Given the description of an element on the screen output the (x, y) to click on. 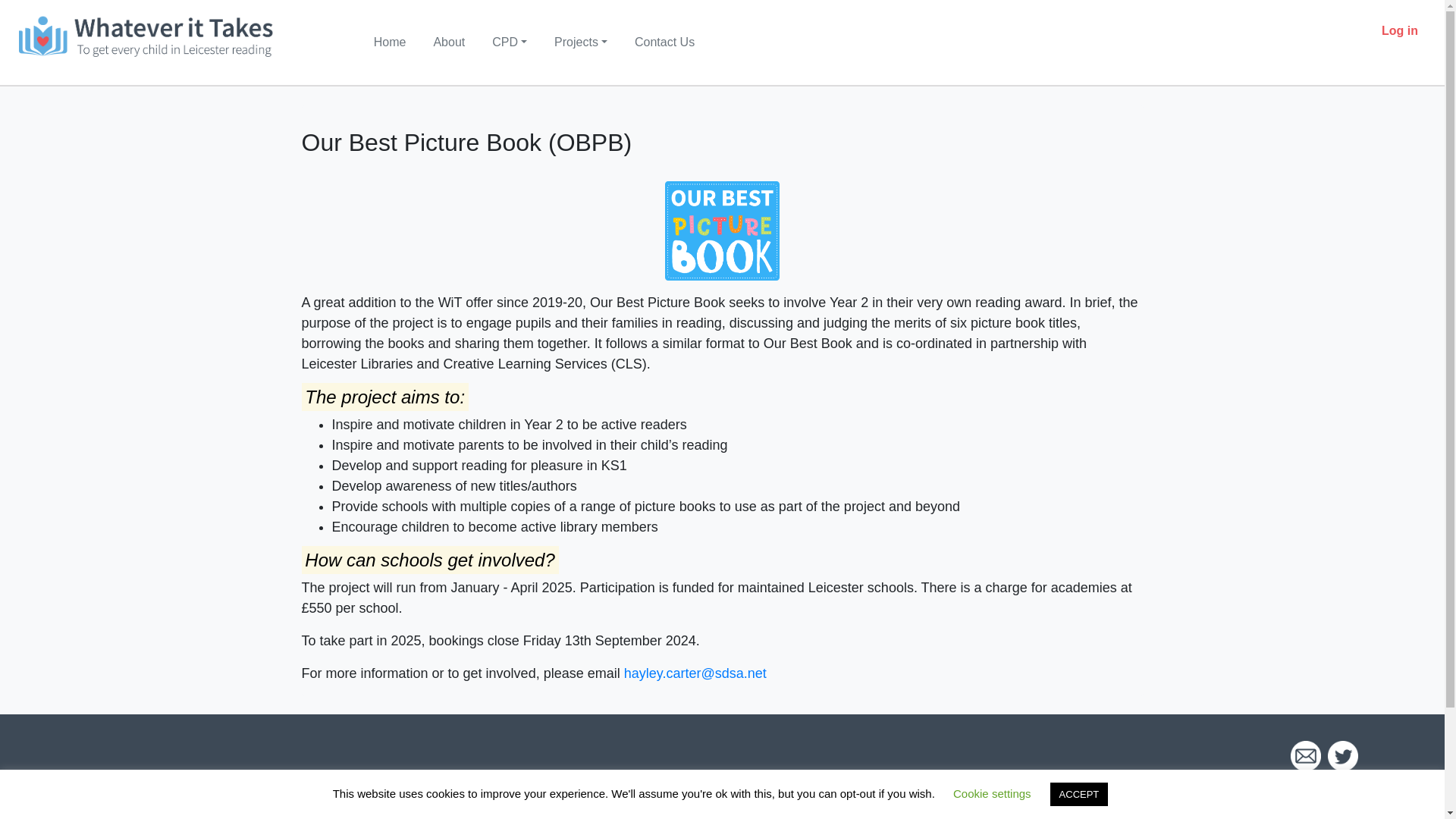
ACCEPT (1078, 793)
Cookie settings (991, 793)
Projects (580, 42)
Home (390, 42)
About (448, 42)
Contact Us (664, 42)
CPD (509, 42)
Log in (1399, 30)
